Given the description of an element on the screen output the (x, y) to click on. 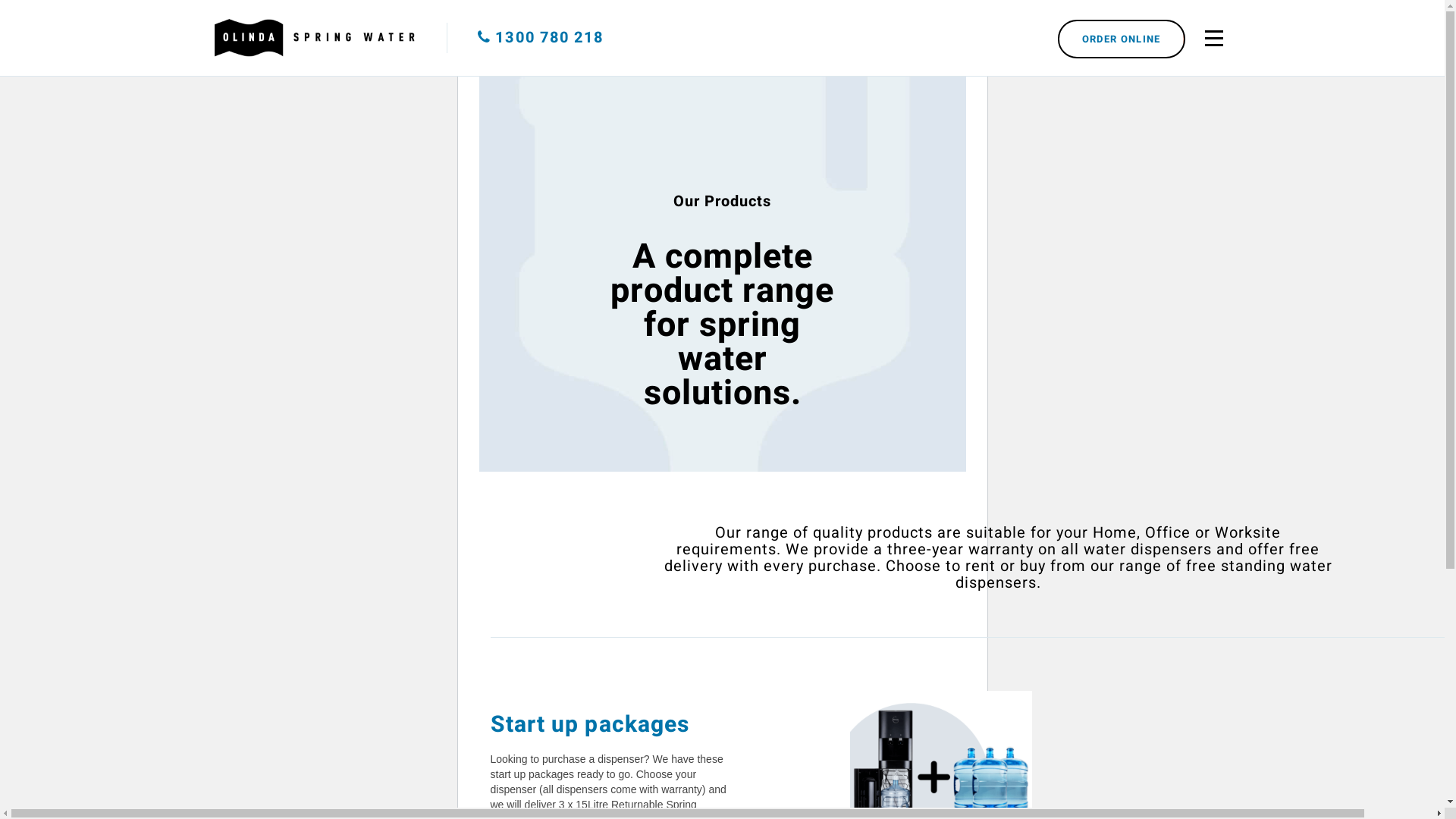
1300 780 218 Element type: text (540, 37)
ORDER ONLINE Element type: text (1121, 39)
Menu Element type: text (1214, 37)
Start up packages Element type: text (589, 724)
